Given the description of an element on the screen output the (x, y) to click on. 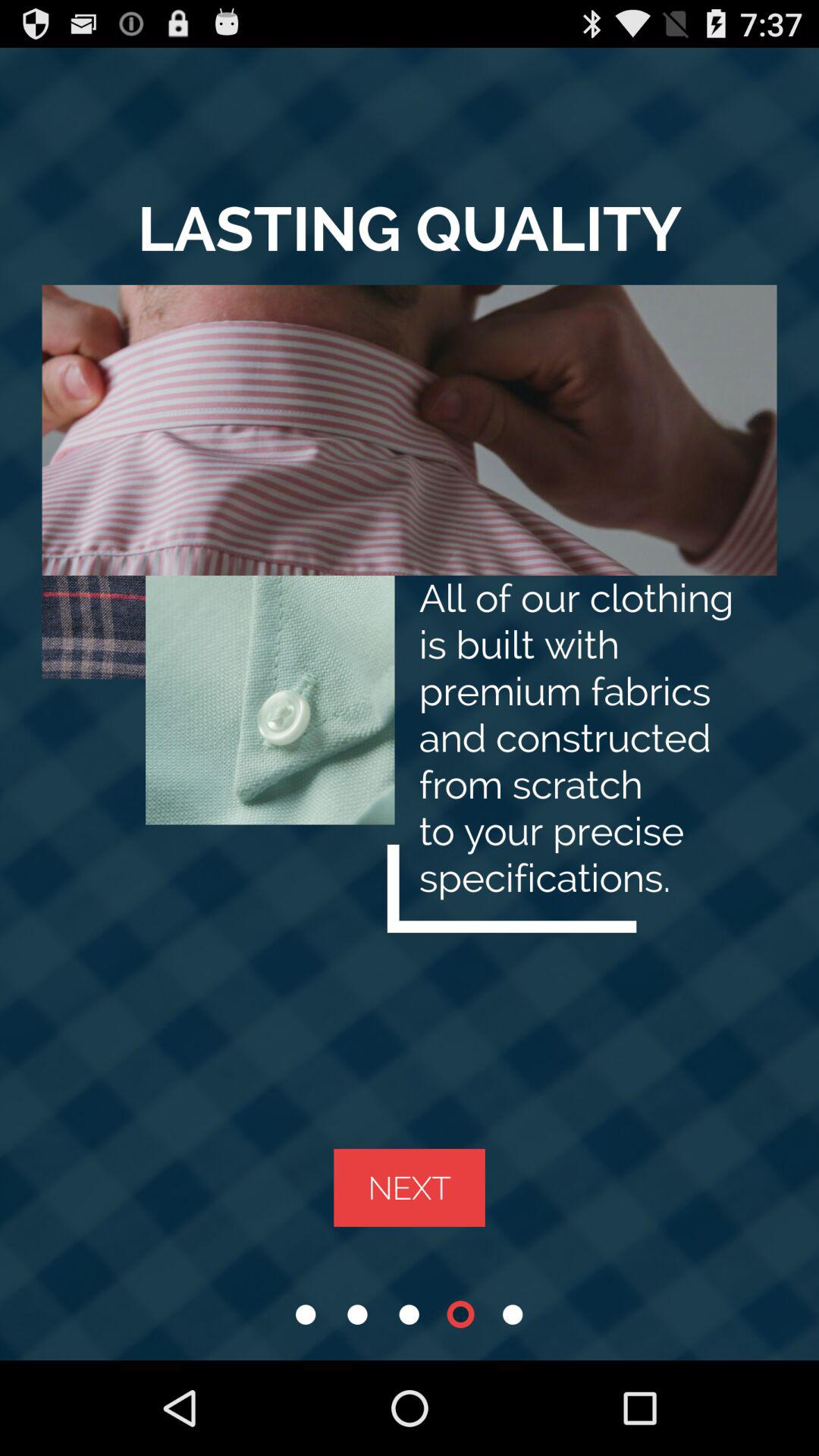
open the next app (409, 1187)
